Given the description of an element on the screen output the (x, y) to click on. 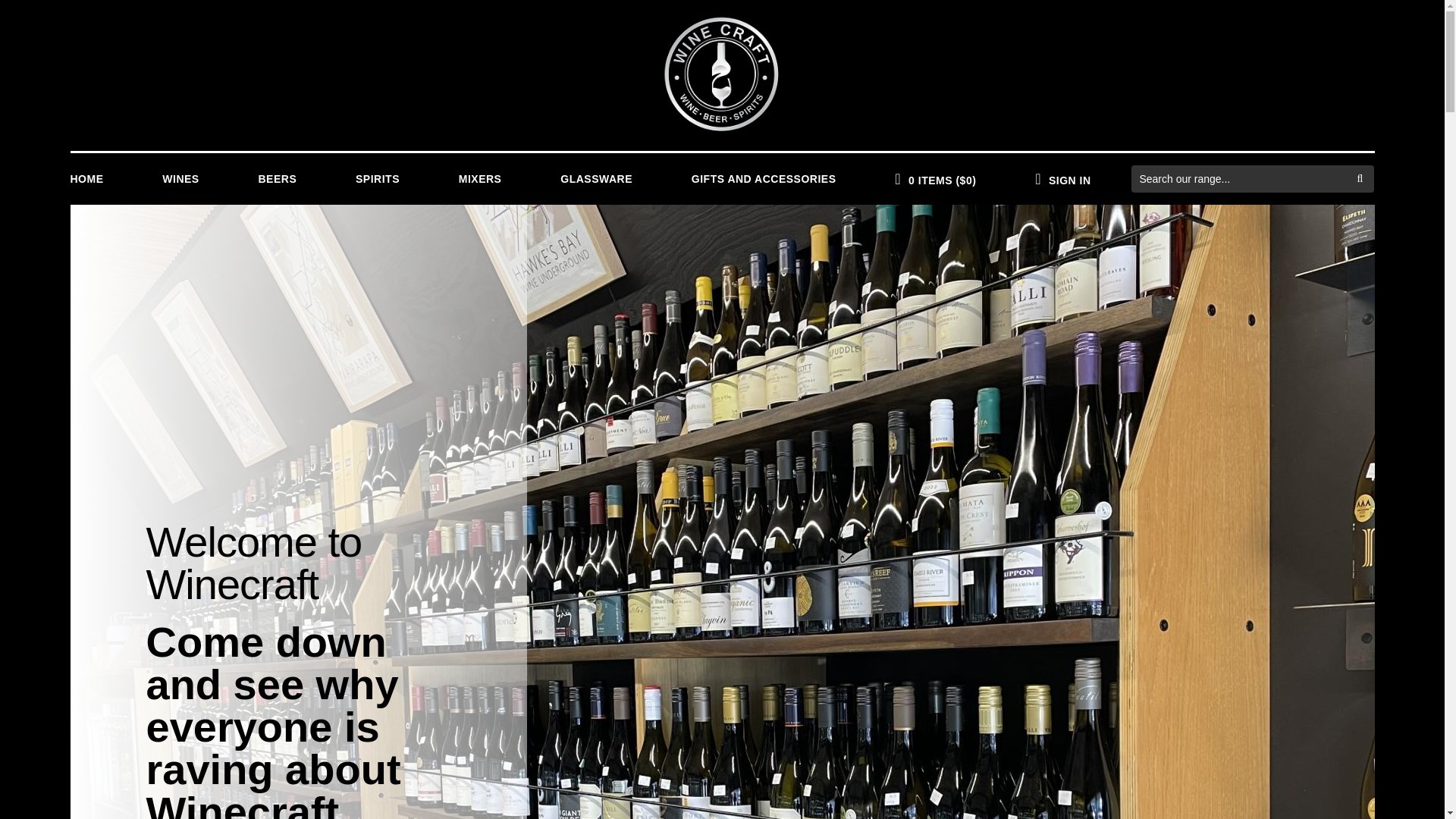
Login (1062, 178)
WINES (180, 178)
SPIRITS (377, 178)
BEERS (277, 178)
View Basket (935, 178)
HOME (94, 178)
